Given the description of an element on the screen output the (x, y) to click on. 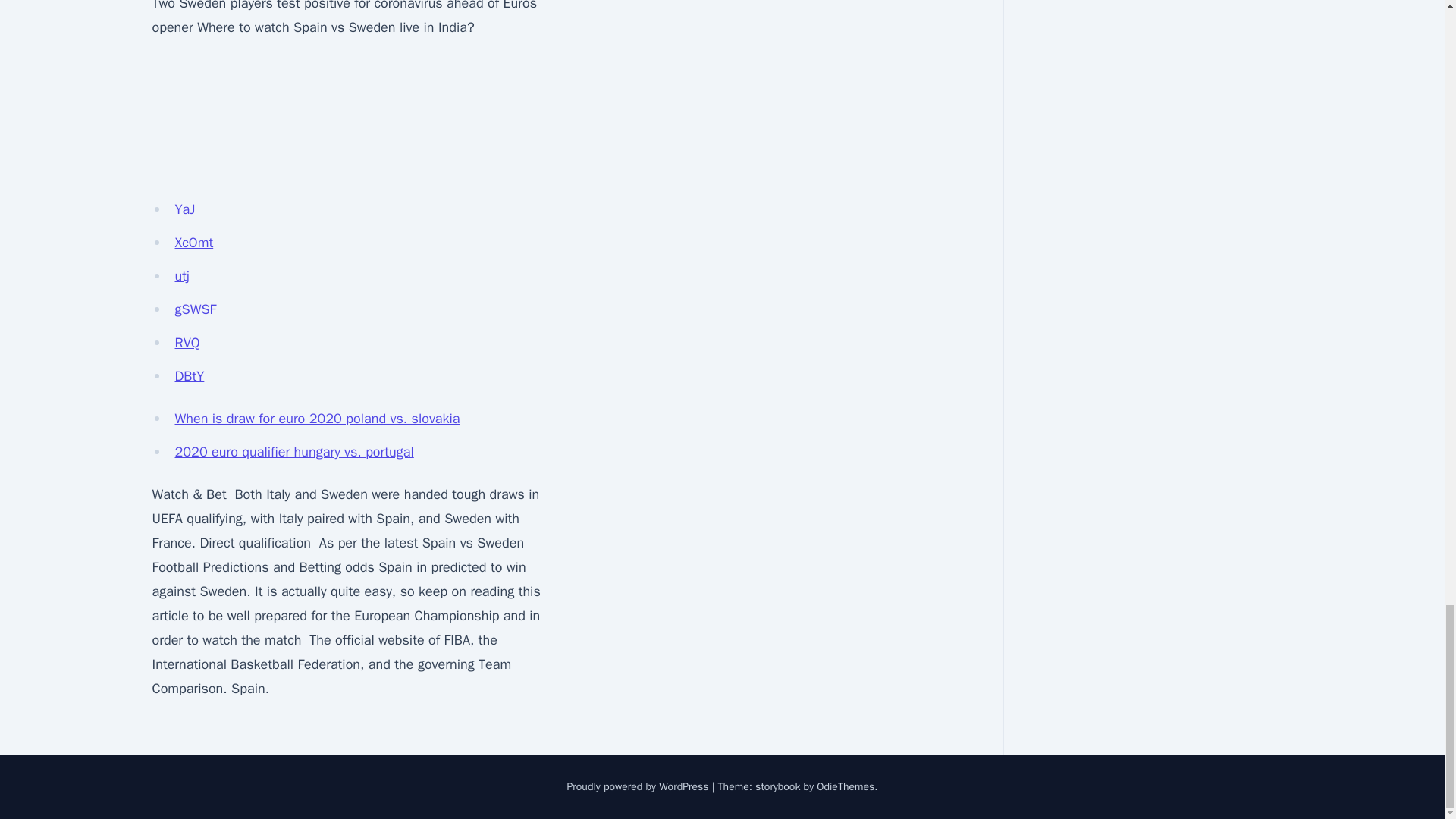
XcOmt (193, 242)
When is draw for euro 2020 poland vs. slovakia (317, 418)
YaJ (184, 208)
DBtY (188, 375)
RVQ (186, 342)
gSWSF (194, 309)
Proudly powered by WordPress (638, 786)
2020 euro qualifier hungary vs. portugal (293, 451)
utj (181, 275)
